Given the description of an element on the screen output the (x, y) to click on. 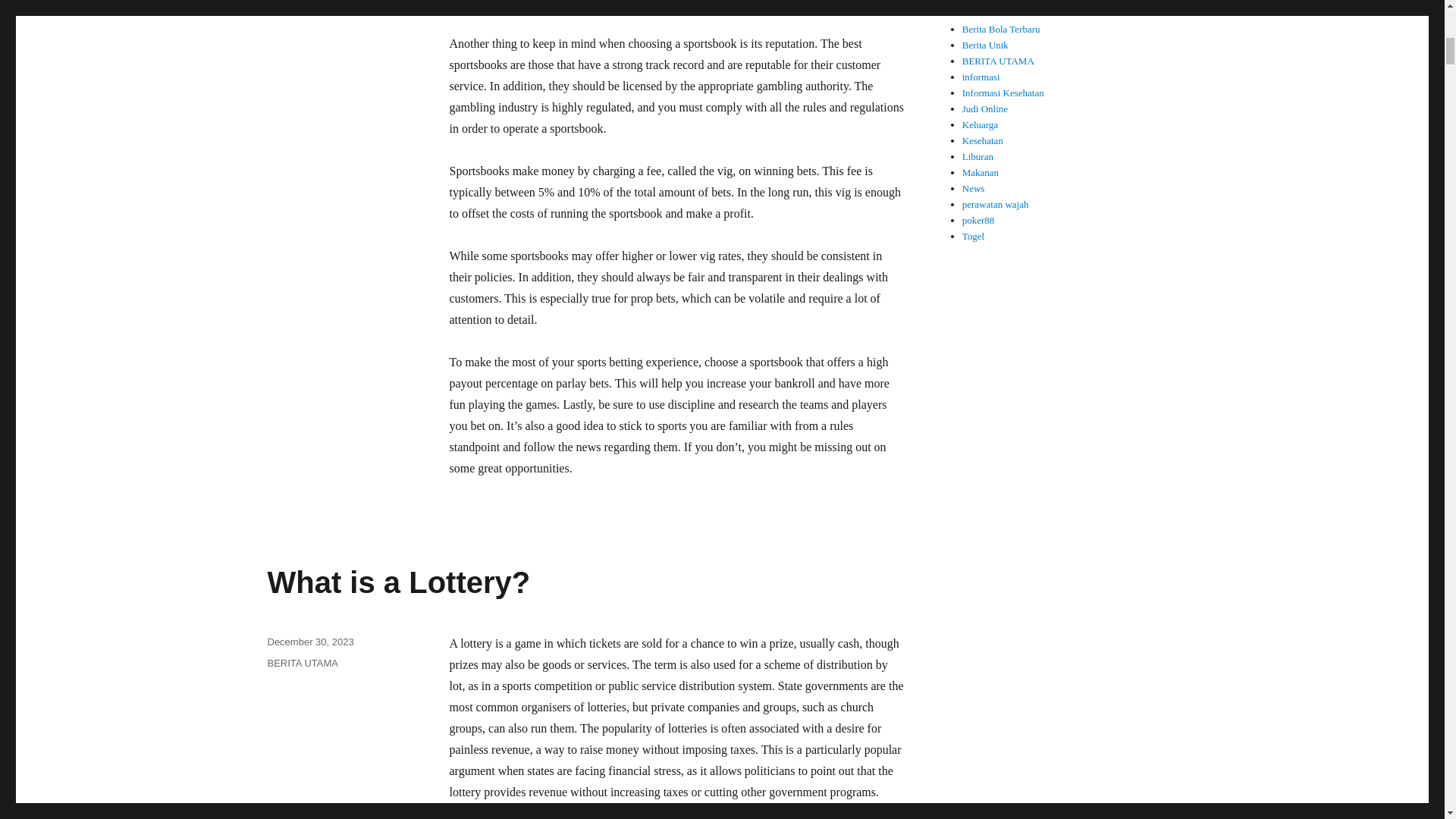
December 30, 2023 (309, 641)
What is a Lottery? (397, 581)
BERITA UTAMA (301, 663)
